Given the description of an element on the screen output the (x, y) to click on. 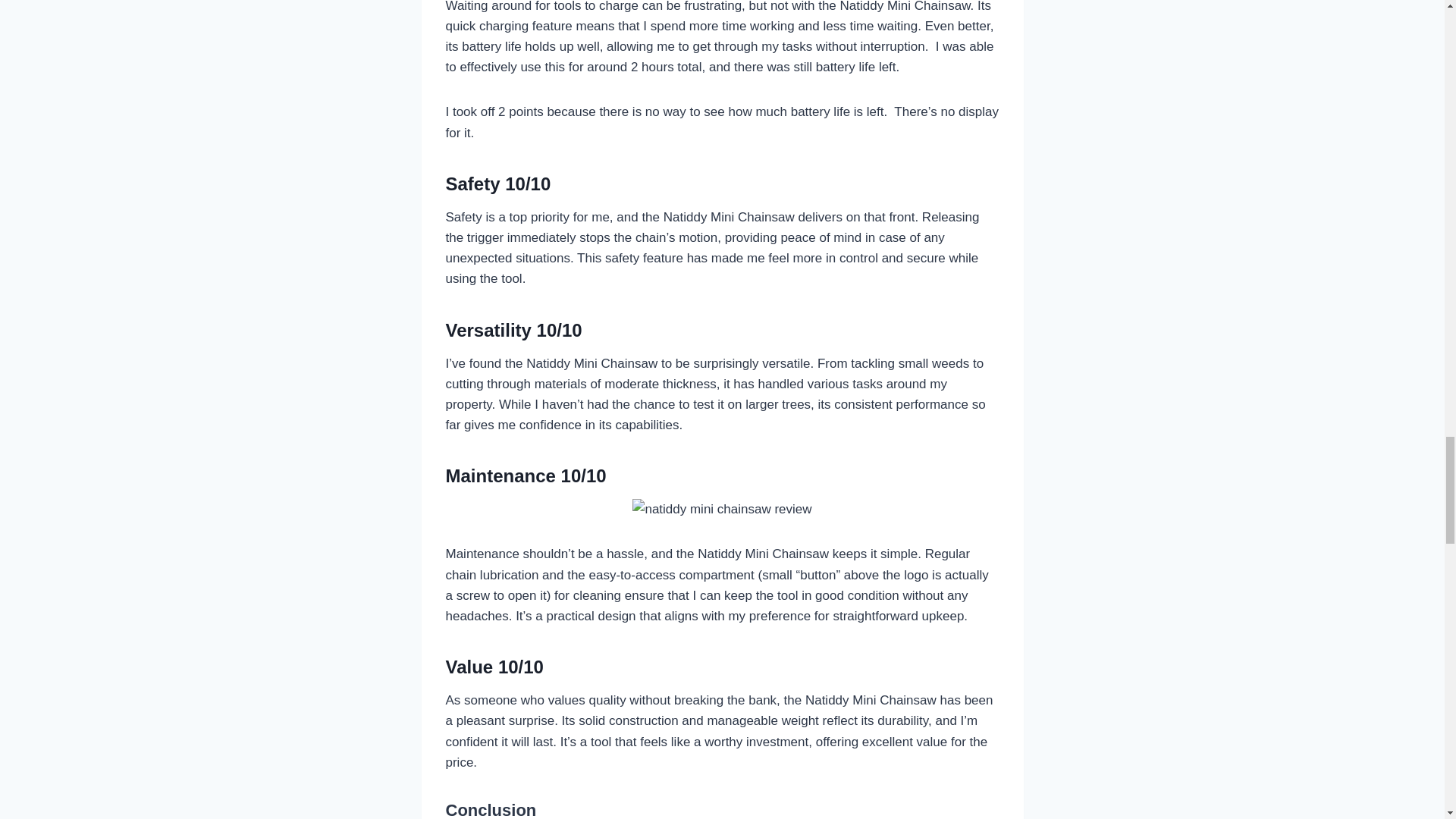
natiddy mini chainsaw (720, 508)
